Given the description of an element on the screen output the (x, y) to click on. 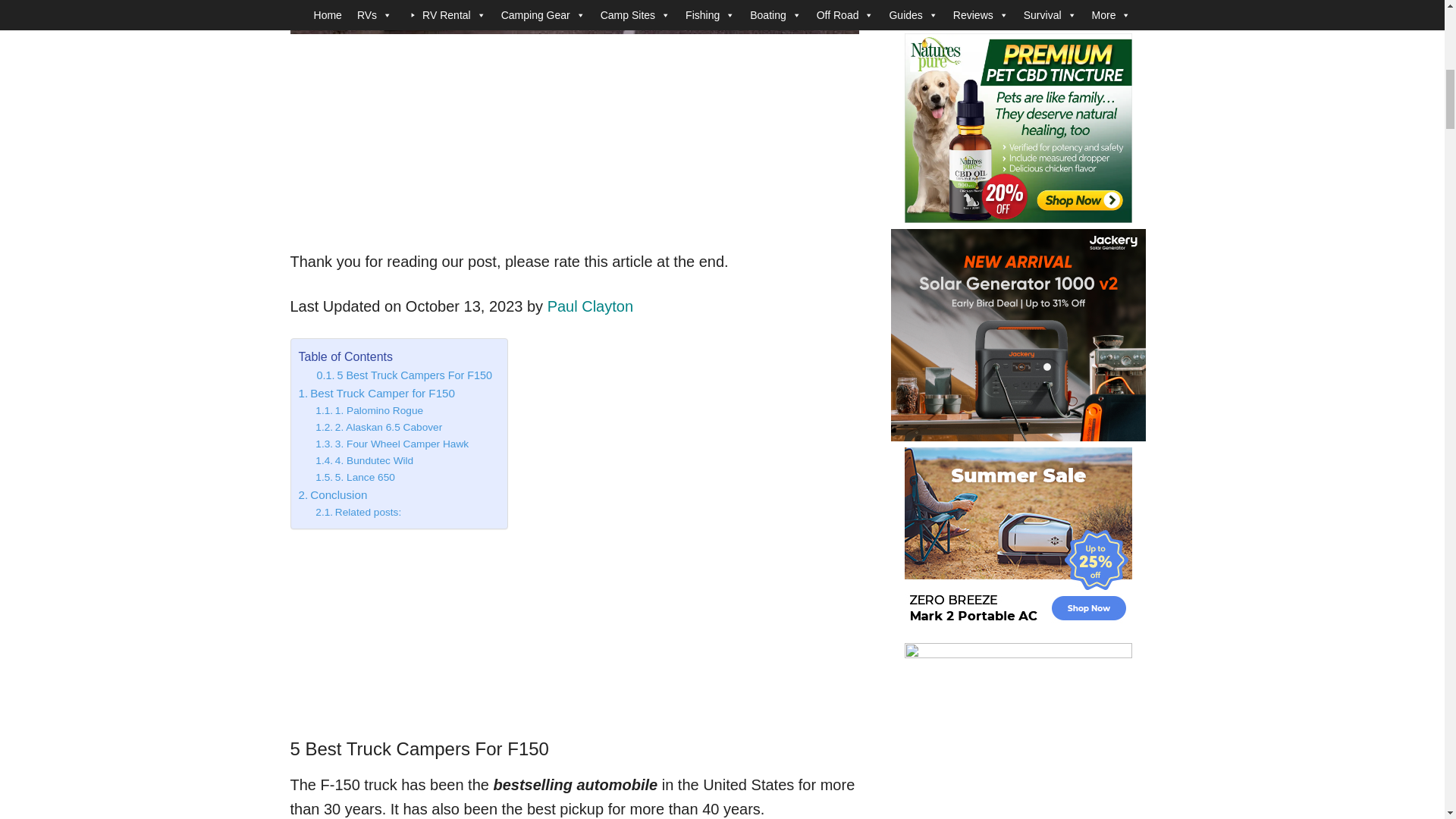
4. Bundutec Wild (364, 460)
5 Best Truck Campers For F150 (405, 375)
Best Truck Camper for F150 (376, 393)
5. Lance 650 (354, 477)
3. Four Wheel Camper Hawk (391, 443)
2. Alaskan 6.5 Cabover (378, 427)
Related posts: (358, 512)
